Given the description of an element on the screen output the (x, y) to click on. 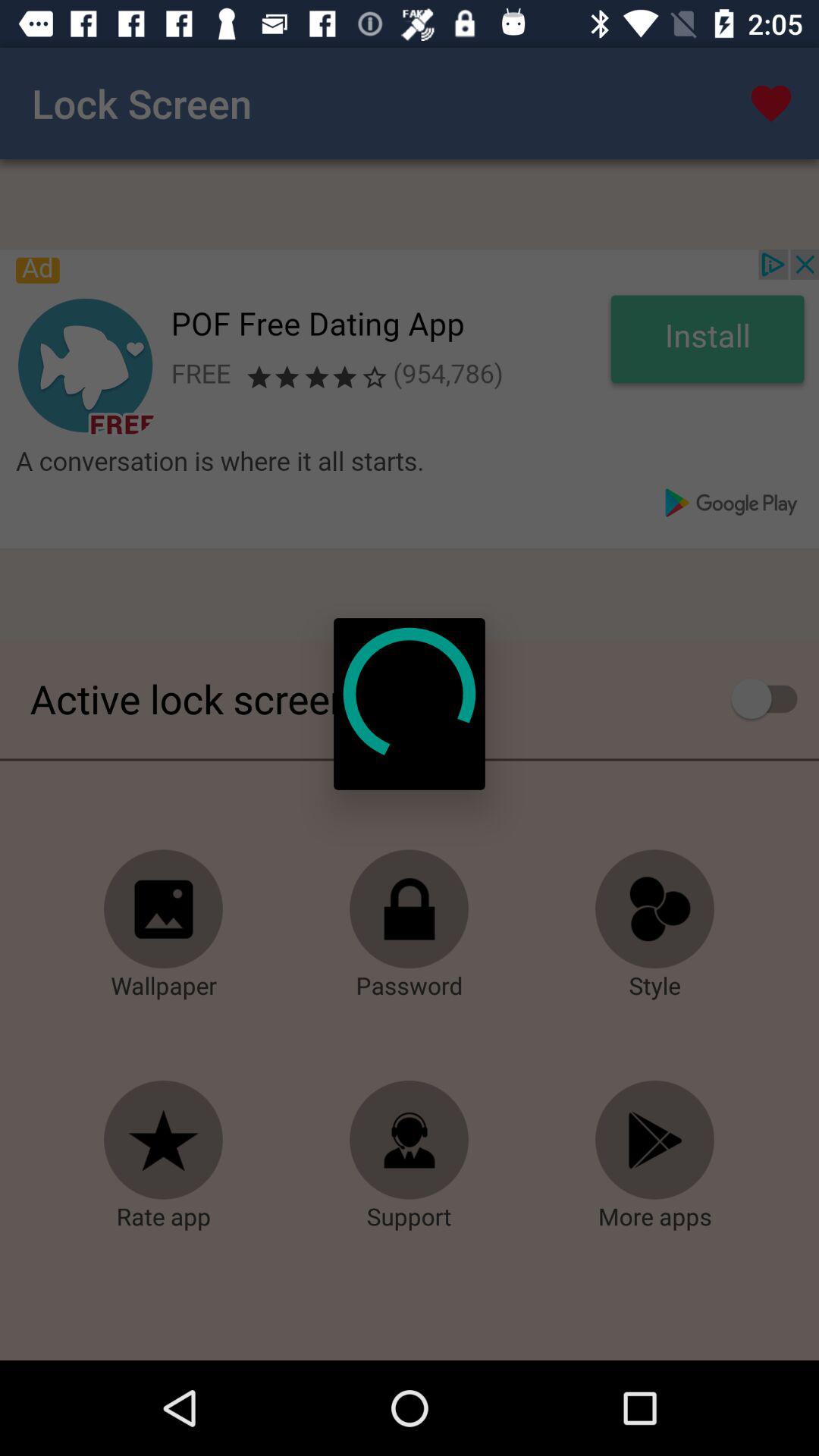
contact (409, 1140)
